Given the description of an element on the screen output the (x, y) to click on. 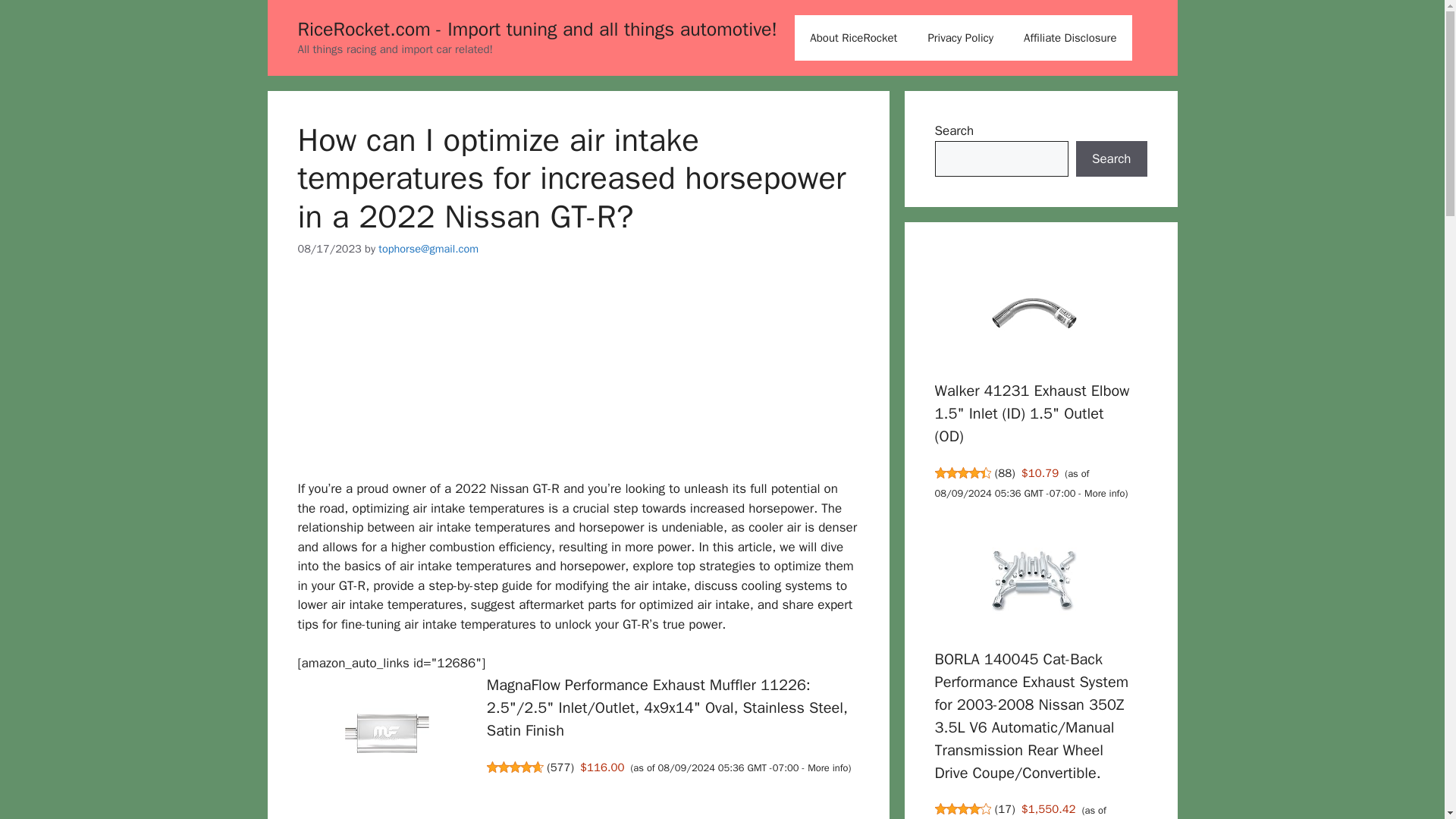
More info (827, 767)
RiceRocket.com - Import tuning and all things automotive! (537, 28)
Privacy Policy (960, 37)
Affiliate Disclosure (1070, 37)
577 (560, 766)
About RiceRocket (853, 37)
